Given the description of an element on the screen output the (x, y) to click on. 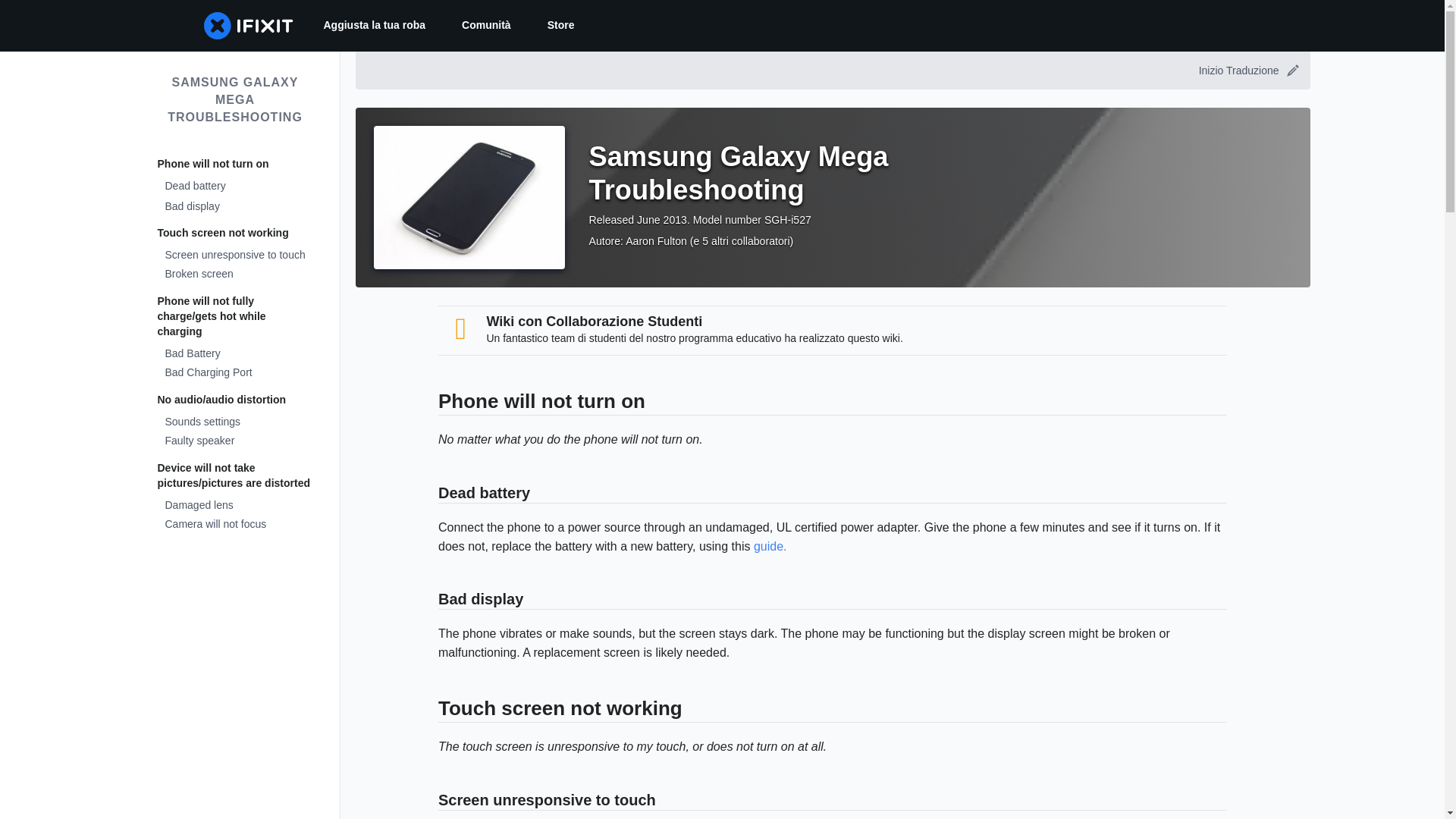
Aaron Fulton (656, 241)
Link a questa sezione (430, 600)
Damaged lens (235, 506)
SAMSUNG GALAXY MEGA TROUBLESHOOTING (234, 100)
Link a questa sezione (430, 403)
Screen unresponsive to touch (235, 255)
Bad Battery (235, 353)
Bad display (235, 207)
Sounds settings (235, 422)
Inizio Traduzione (1246, 70)
Faulty speaker (235, 441)
Touch screen not working (235, 233)
Camera will not focus (235, 525)
Store (560, 25)
Phone will not turn on (235, 164)
